Given the description of an element on the screen output the (x, y) to click on. 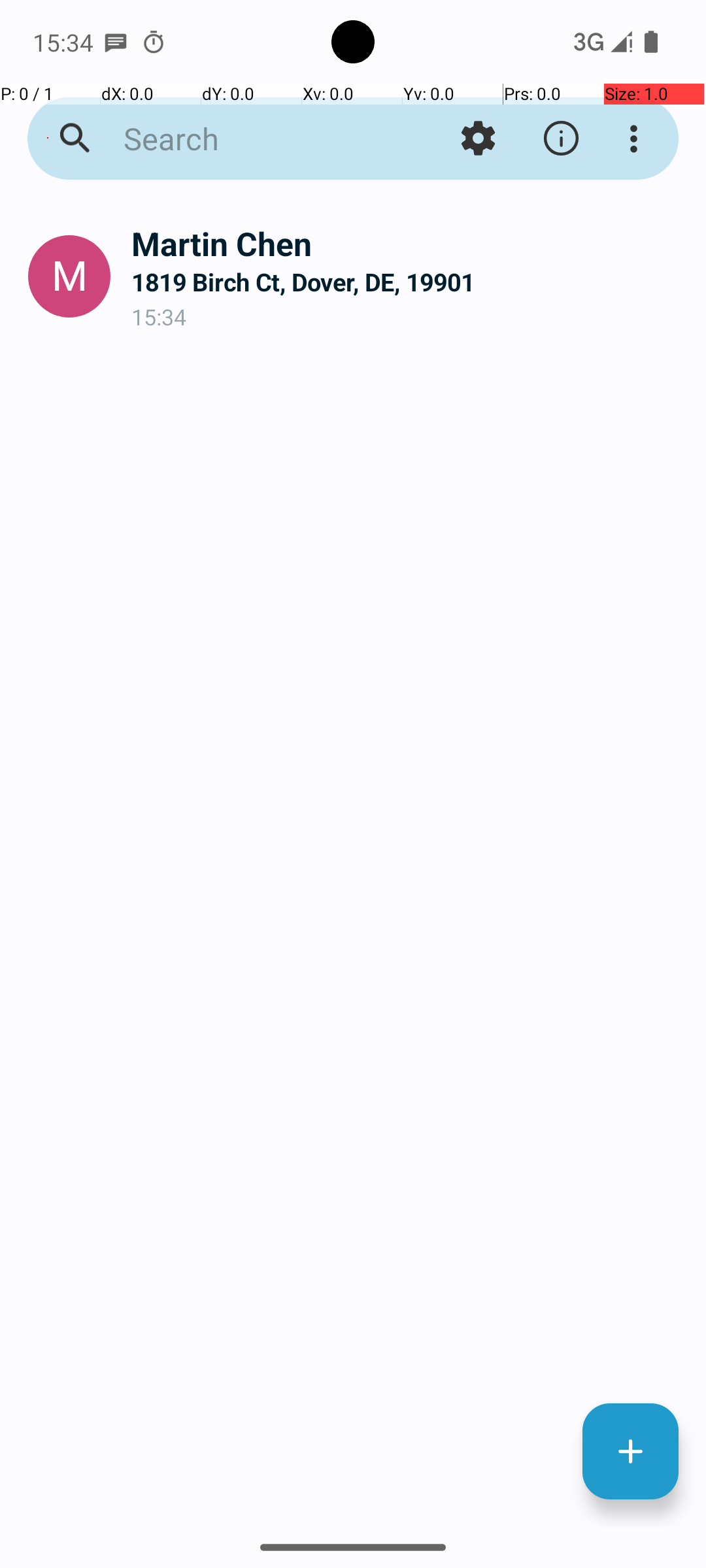
Martin Chen Element type: android.widget.TextView (408, 242)
1819 Birch Ct, Dover, DE, 19901 Element type: android.widget.TextView (408, 281)
